Given the description of an element on the screen output the (x, y) to click on. 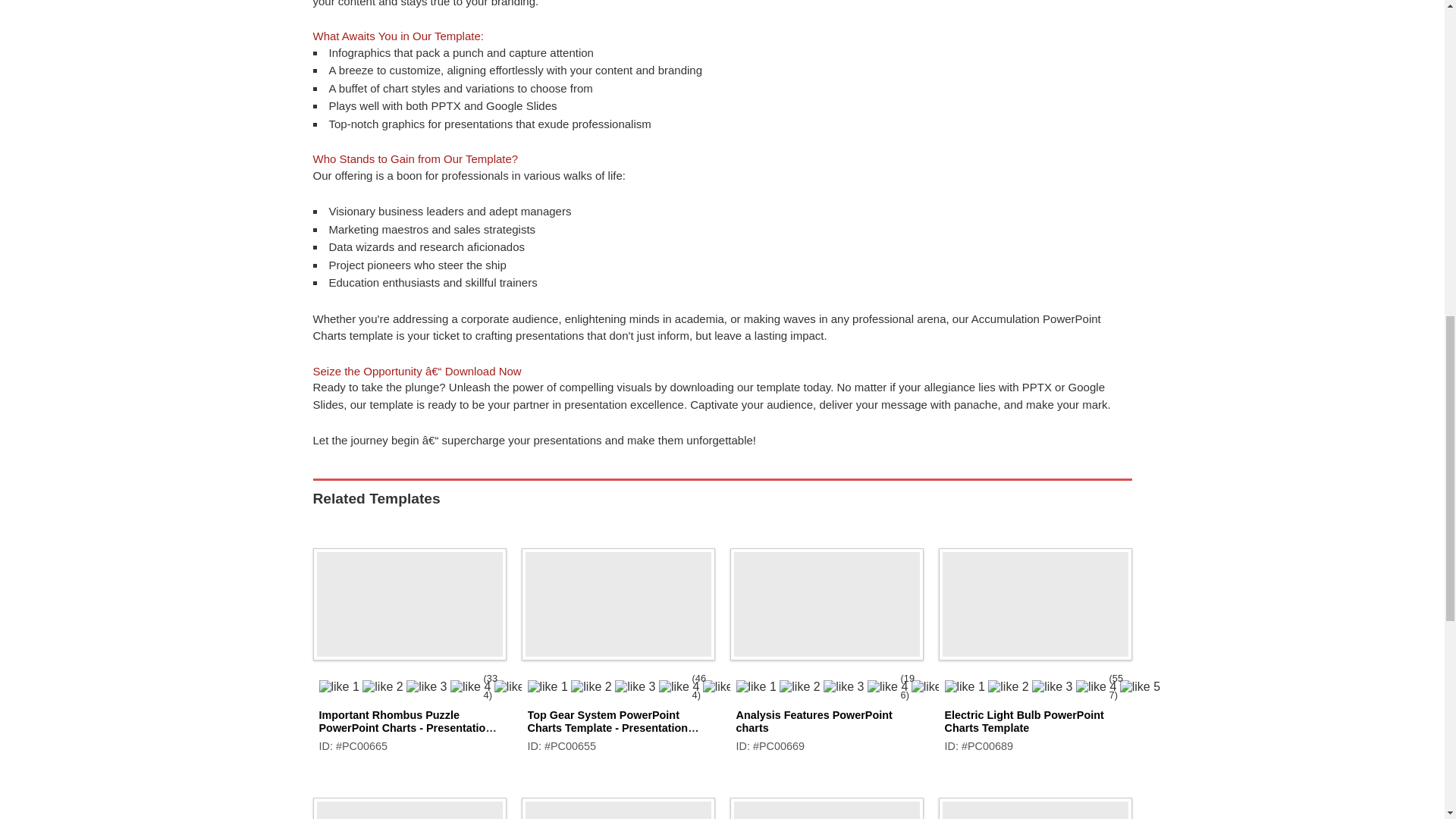
Electric Light Bulb PowerPoint Charts Template (1023, 721)
Analysis Features PowerPoint charts (813, 721)
3 out of 5 stars (606, 686)
Analysis Features PowerPoint charts (826, 599)
5 out of 5 stars (397, 686)
